Given the description of an element on the screen output the (x, y) to click on. 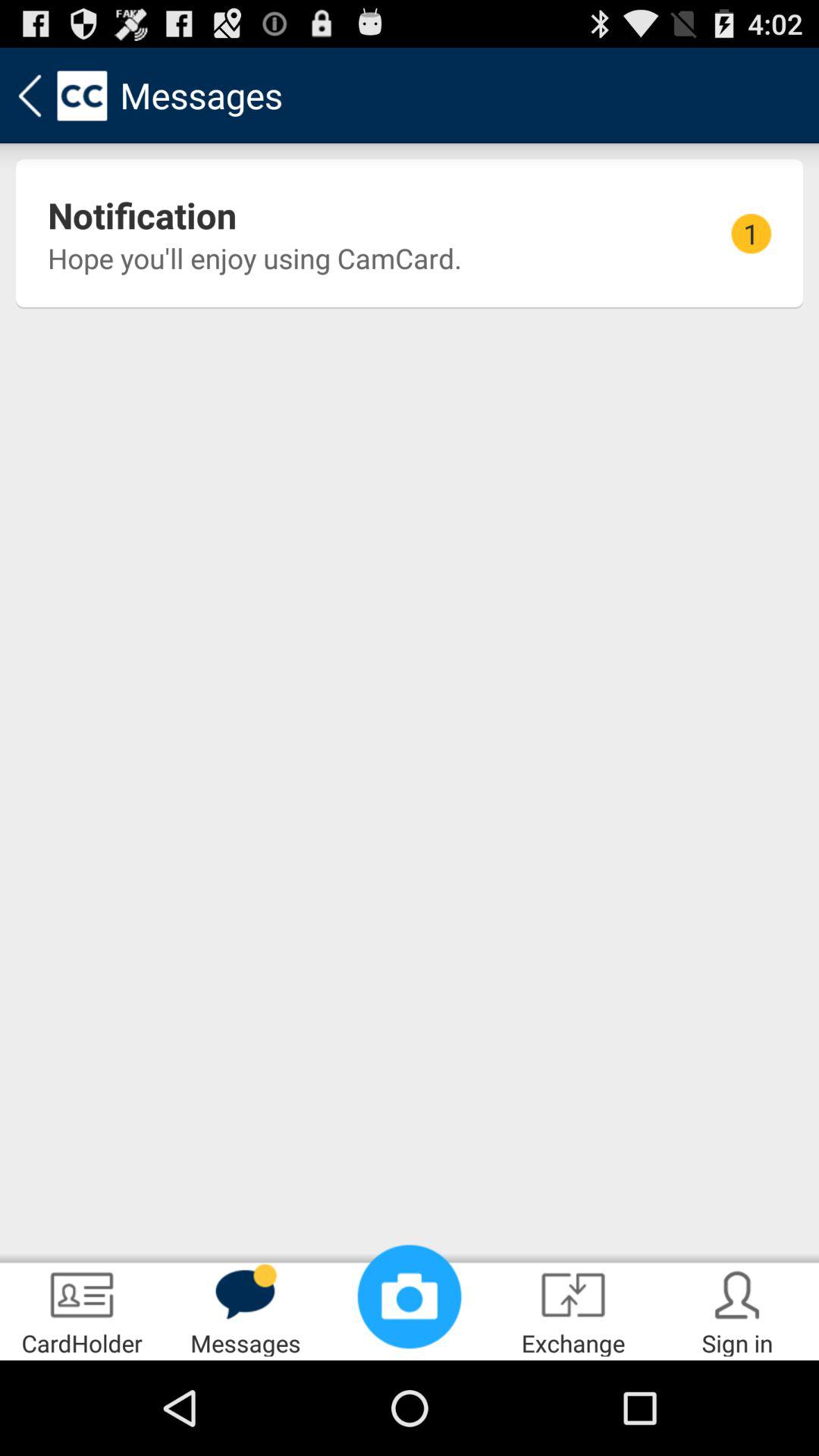
turn on the hope you ll (254, 257)
